Given the description of an element on the screen output the (x, y) to click on. 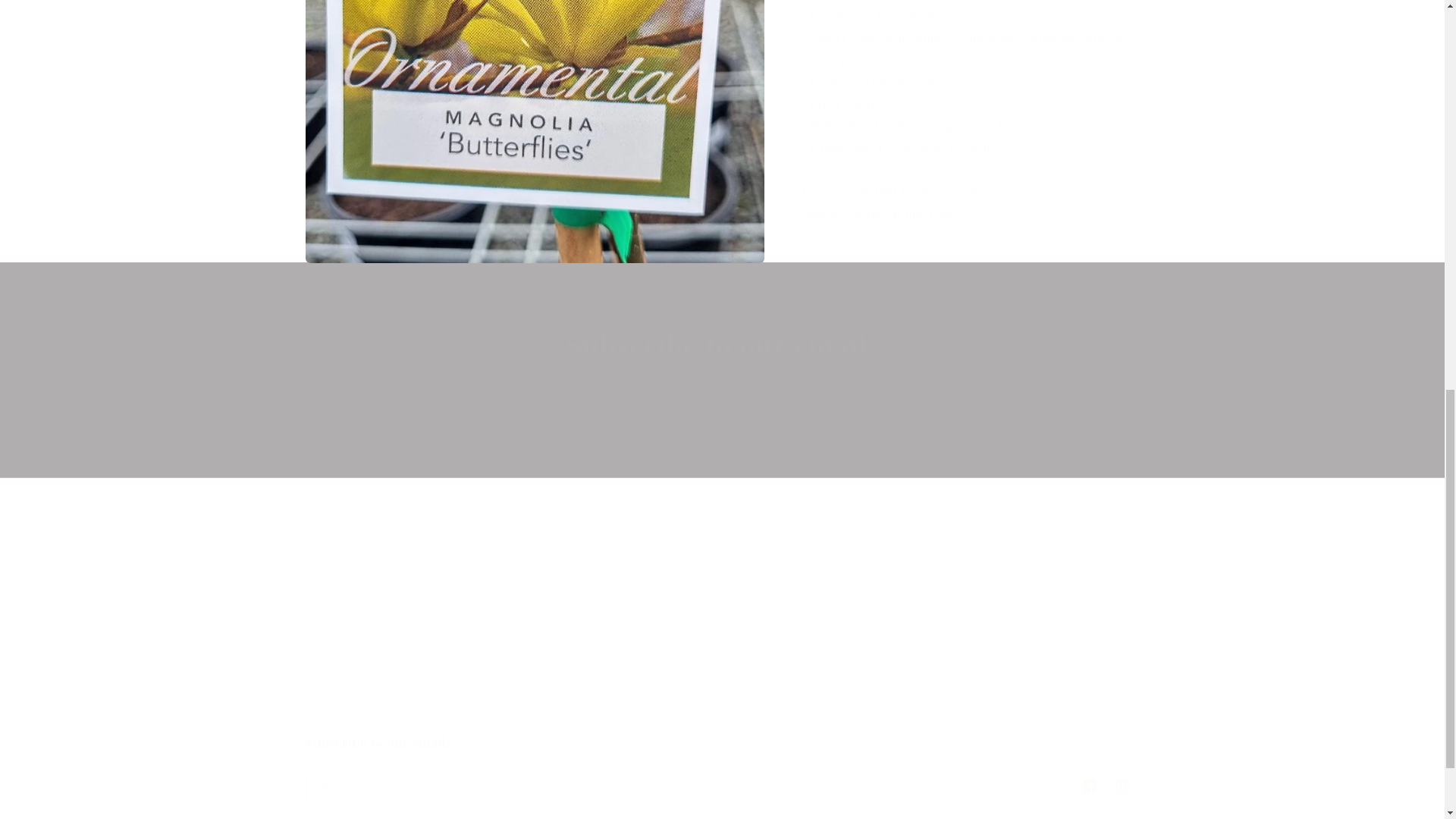
Subscribe to our emails (721, 345)
Open media 1 in modal (721, 768)
Email (533, 18)
